Given the description of an element on the screen output the (x, y) to click on. 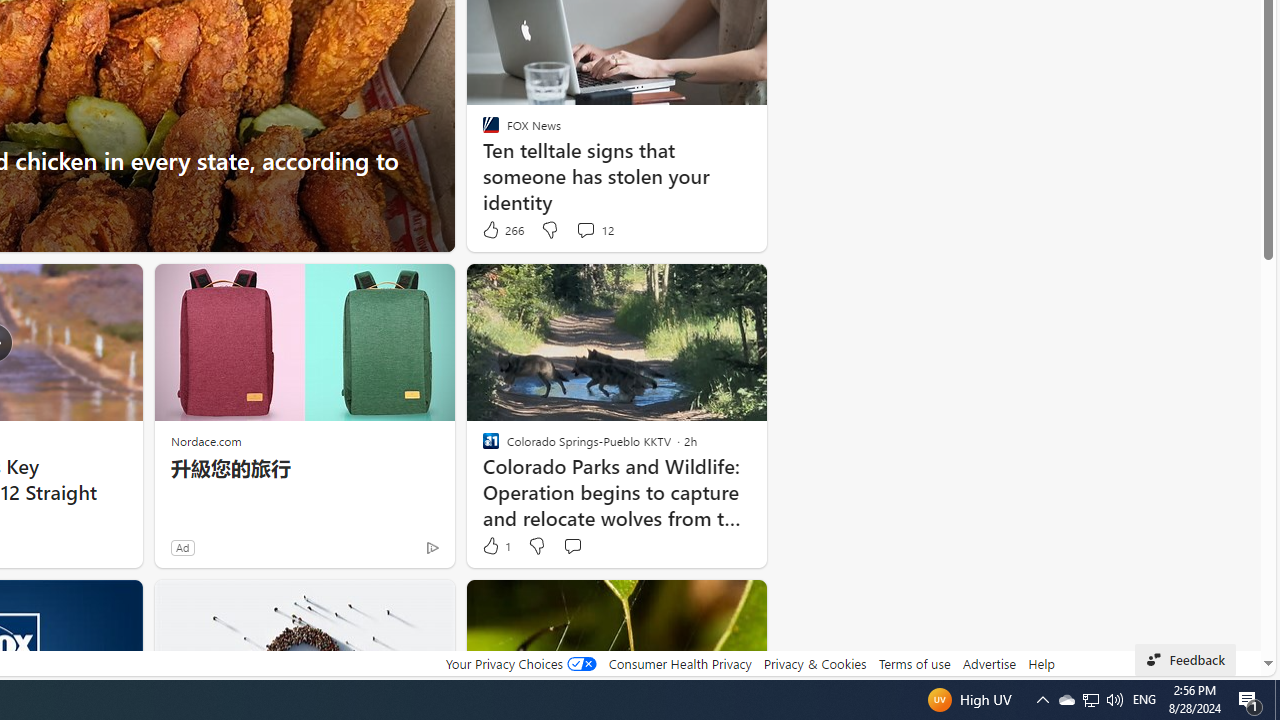
View comments 12 Comment (585, 229)
Nordace.com (205, 440)
Privacy & Cookies (814, 663)
